Given the description of an element on the screen output the (x, y) to click on. 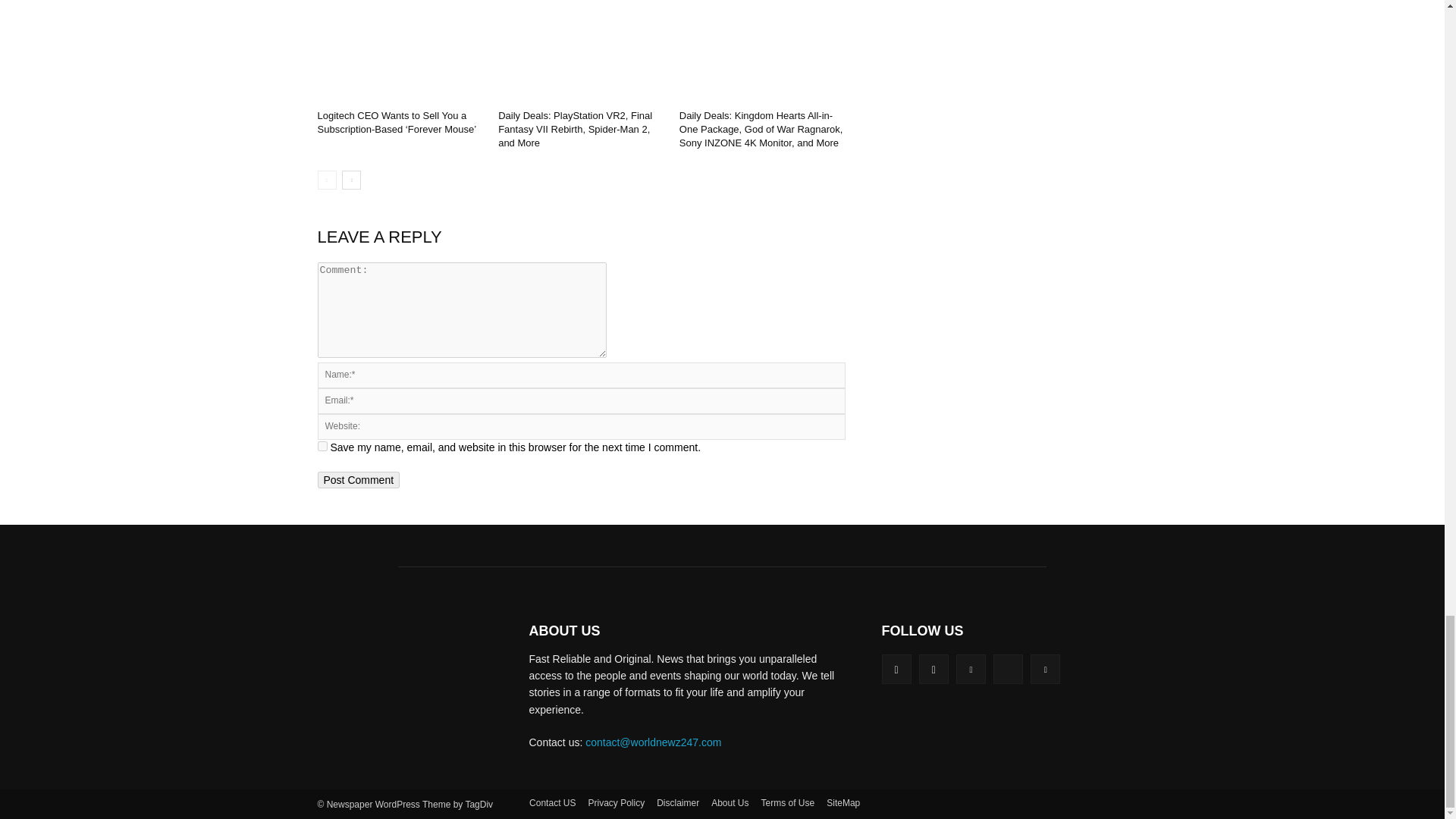
yes (321, 446)
Post Comment (357, 479)
